Given the description of an element on the screen output the (x, y) to click on. 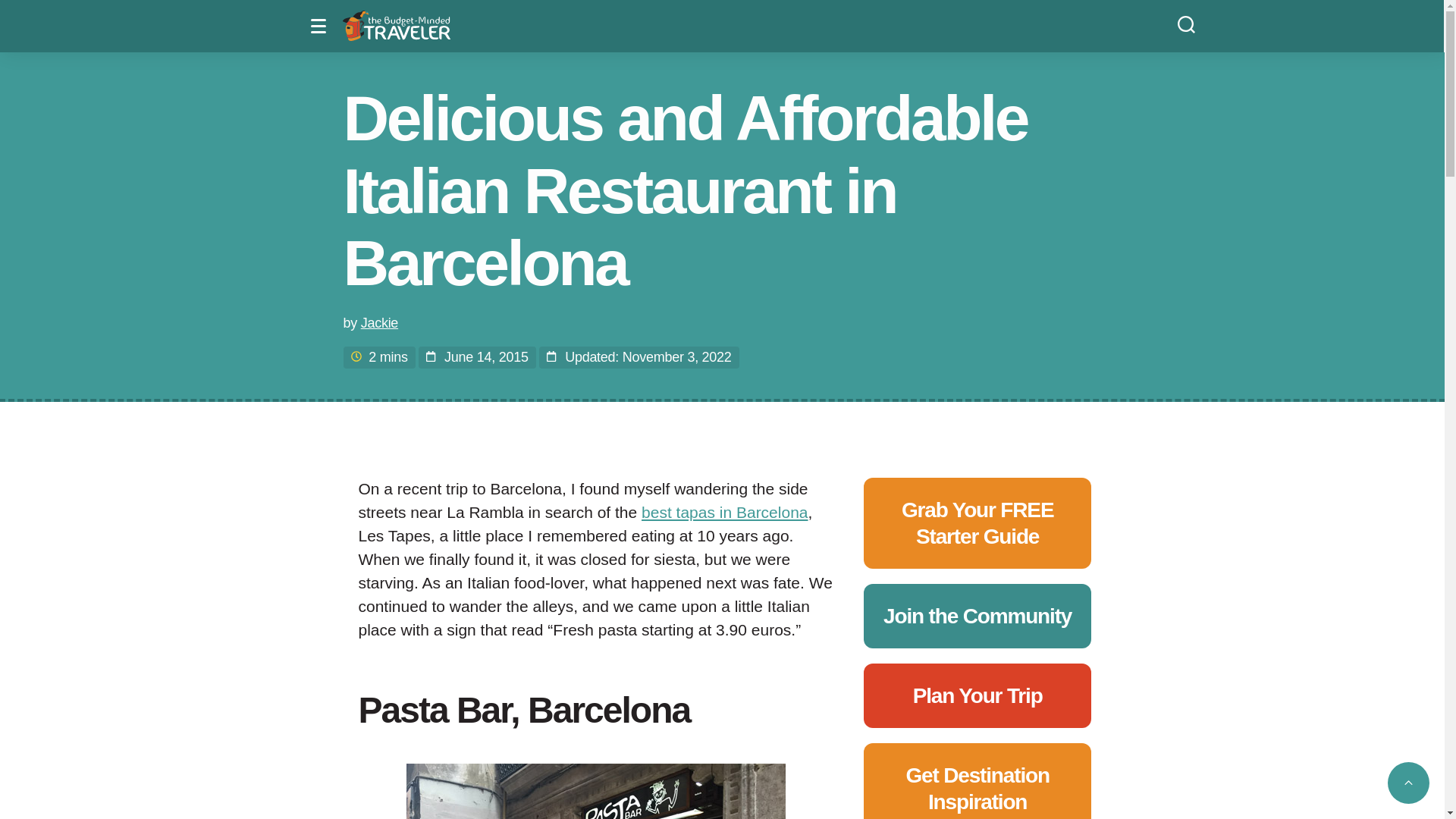
Search (1185, 23)
best tapas in Barcelona (725, 511)
Grab Your FREE Starter Guide (977, 522)
Jackie (379, 322)
Menu toggle (322, 25)
The Budget Minded Traveler (395, 25)
Plan Your Trip (977, 695)
Join the Community (977, 615)
Get Destination Inspiration (977, 788)
